Given the description of an element on the screen output the (x, y) to click on. 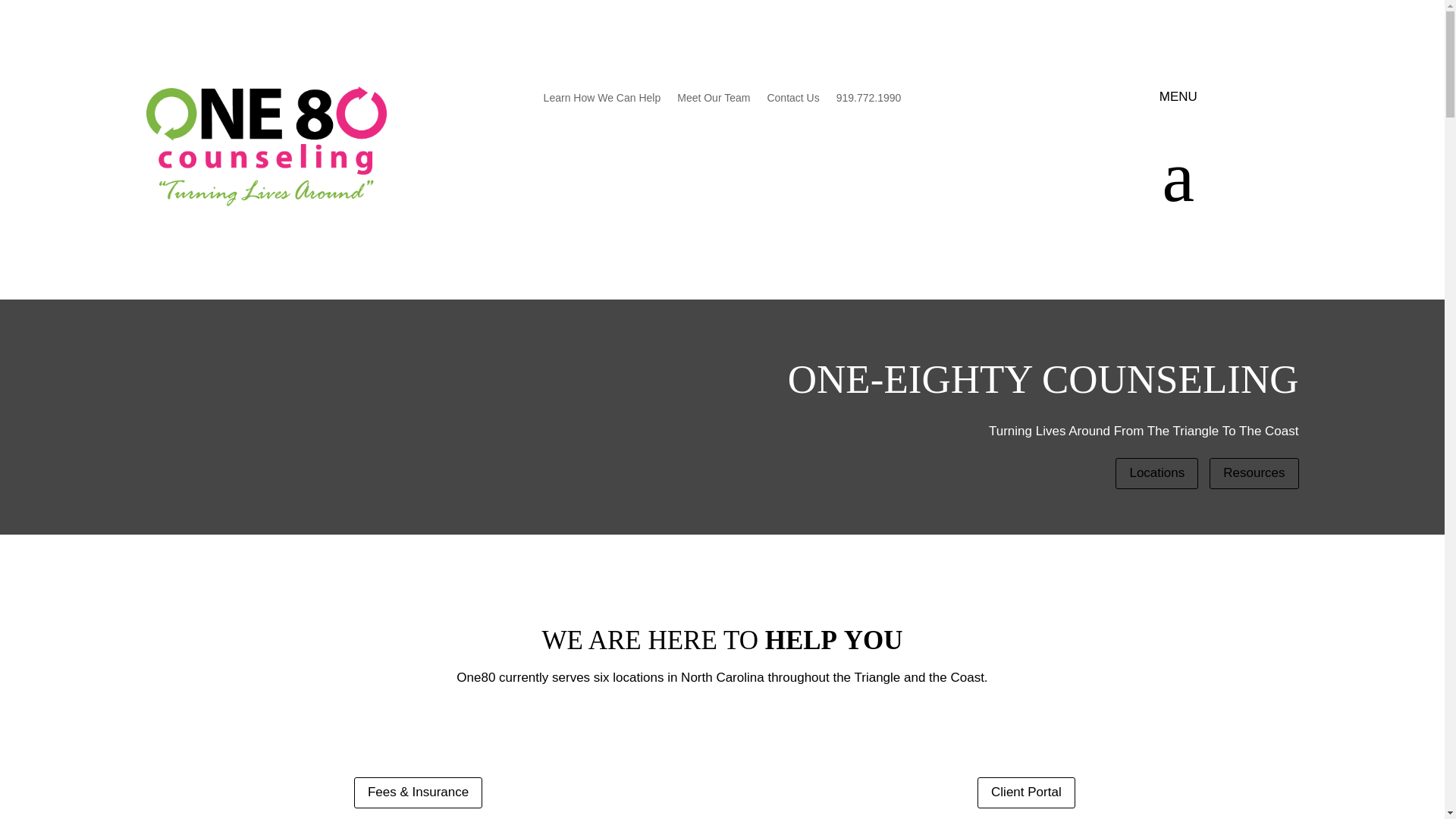
Locations (1156, 472)
Meet Our Team (713, 100)
Client Portal (1025, 792)
logo-tagline (265, 146)
Contact Us (792, 100)
919.772.1990 (868, 100)
Resources (1253, 472)
Learn How We Can Help (602, 100)
